Given the description of an element on the screen output the (x, y) to click on. 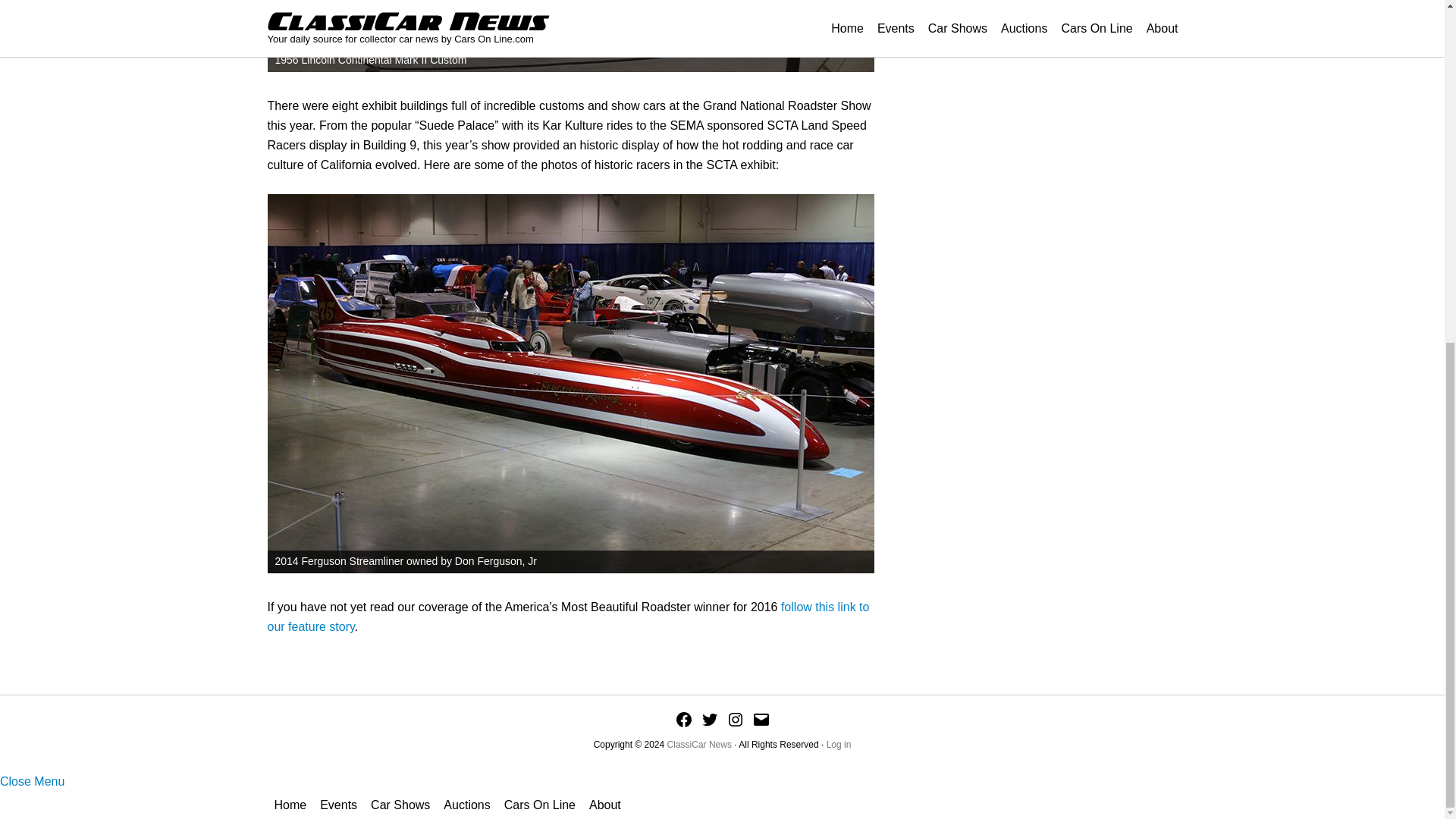
follow this link to our feature story (567, 616)
Email (761, 719)
Twitter (709, 719)
Instagram (735, 719)
Log in (839, 744)
ClassiCar News (699, 744)
Facebook (684, 719)
Close Menu (32, 780)
